Given the description of an element on the screen output the (x, y) to click on. 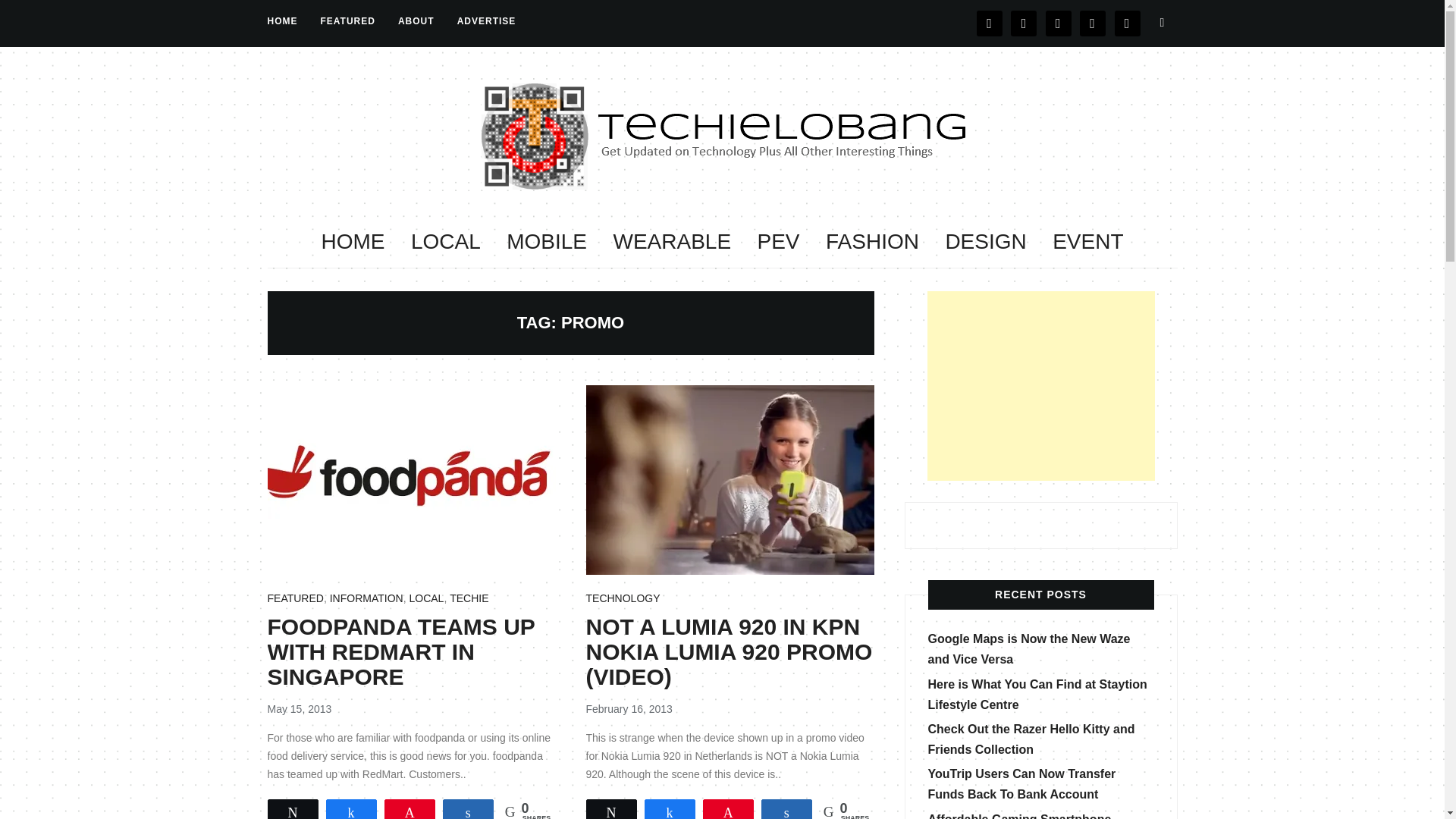
FACEBOOK (989, 22)
FOODPANDA TEAMS UP WITH REDMART IN SINGAPORE (400, 651)
FASHION (871, 241)
INFORMATION (366, 598)
YOUTUBE (1092, 22)
LOCAL (426, 598)
Advertisement (1040, 385)
Facebook (989, 22)
ADVERTISE (486, 21)
WEARABLE (671, 241)
